Given the description of an element on the screen output the (x, y) to click on. 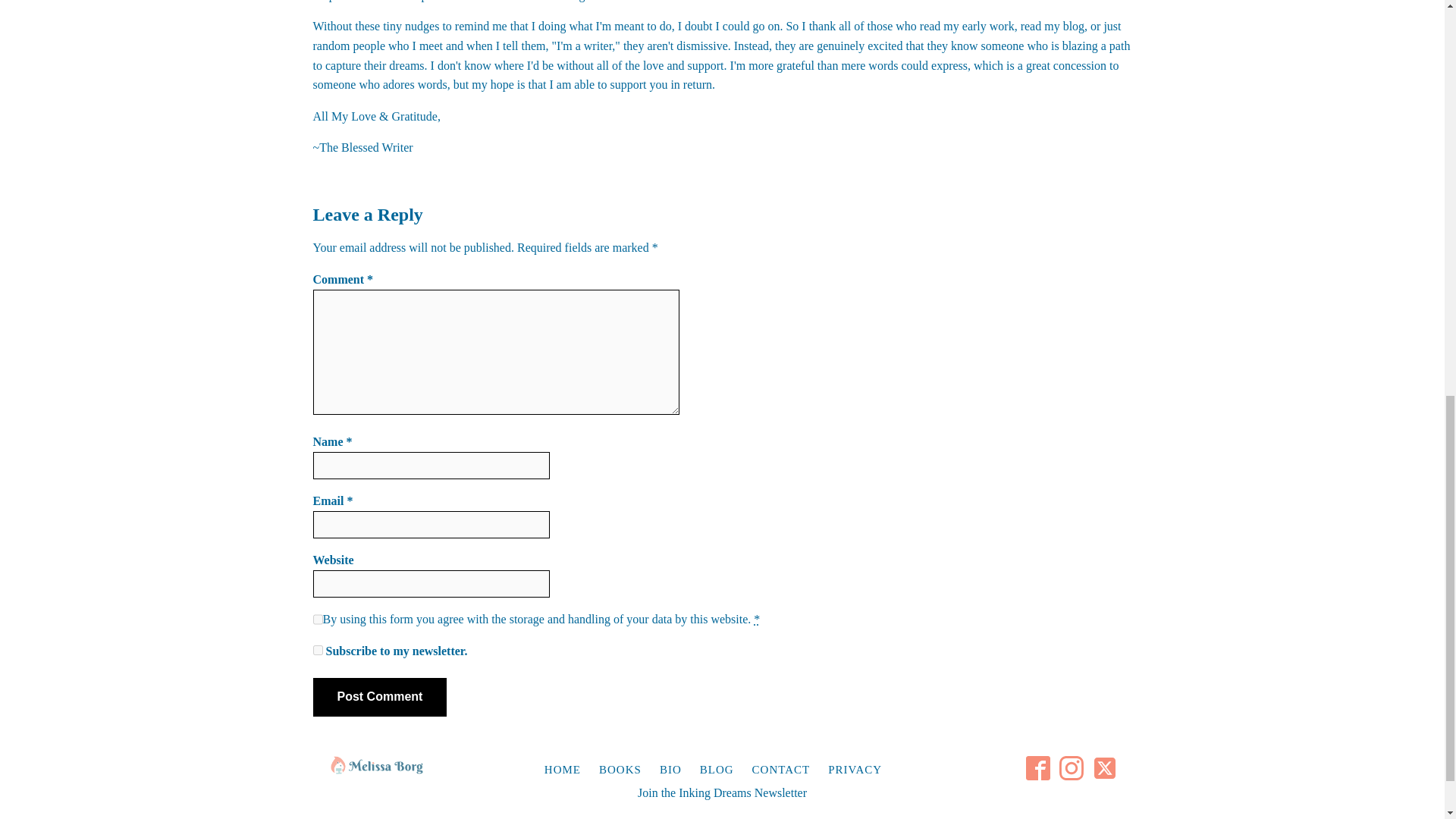
BOOKS (628, 768)
PRIVACY (863, 768)
HOME (571, 768)
CONTACT (790, 768)
BLOG (726, 768)
1 (317, 650)
Post Comment (379, 696)
Post Comment (379, 696)
Join the Inking Dreams Newsletter (721, 792)
BIO (679, 768)
